Given the description of an element on the screen output the (x, y) to click on. 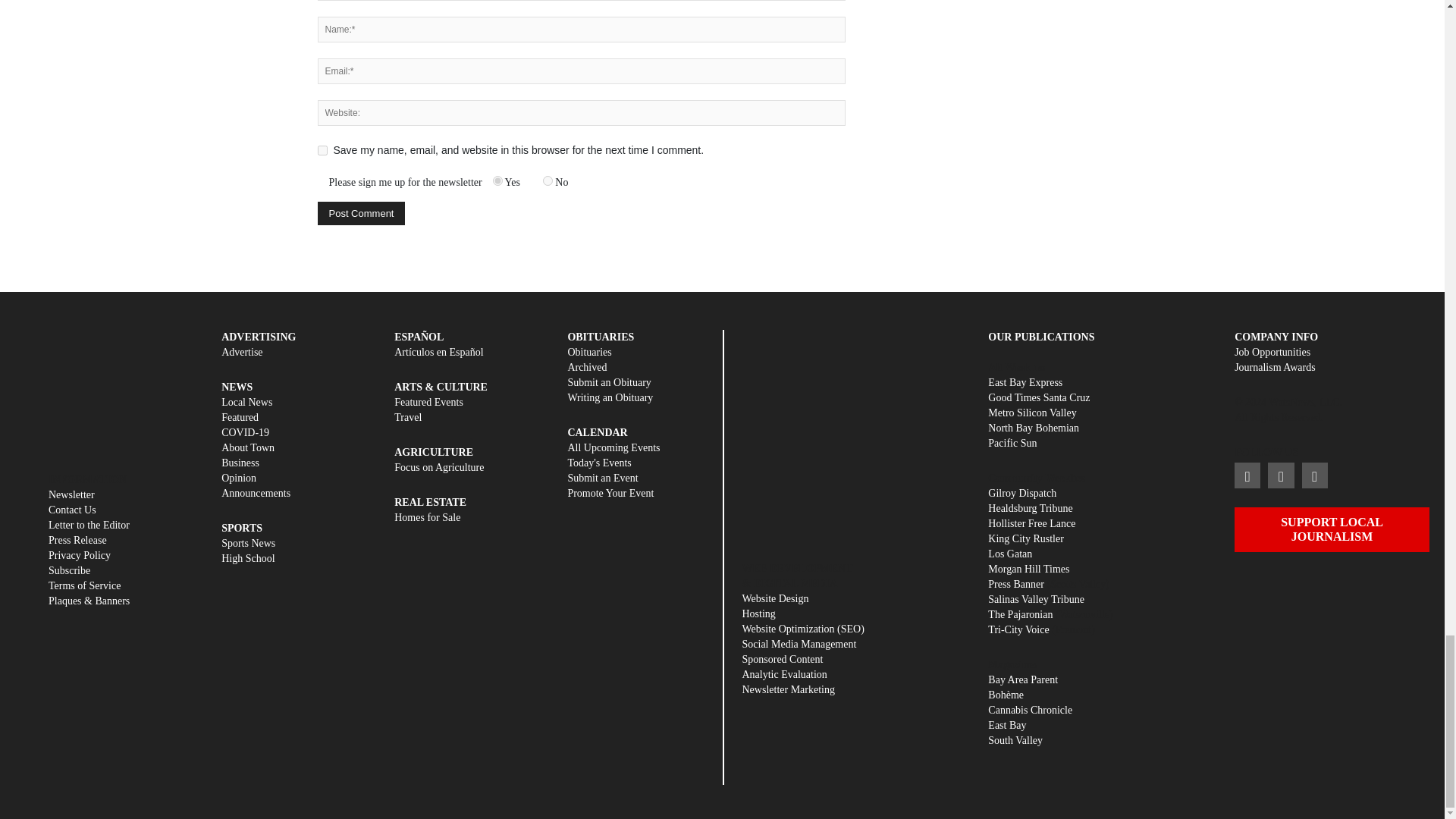
yes (321, 150)
Post Comment (360, 213)
Yes (497, 180)
No (548, 180)
